Given the description of an element on the screen output the (x, y) to click on. 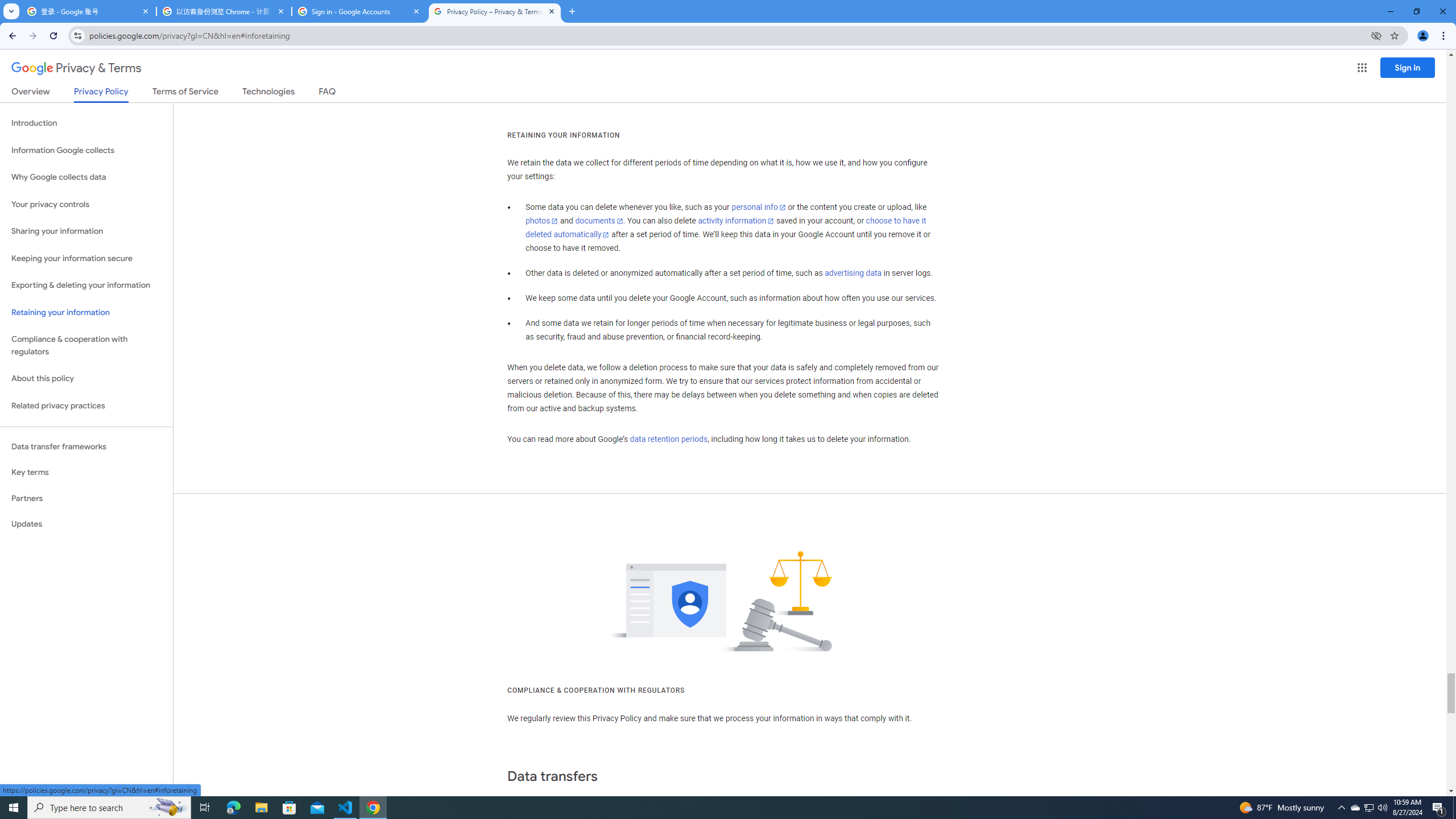
Updates (86, 524)
Terms of Service (184, 93)
Key terms (86, 472)
Exporting & deleting your information (86, 284)
advertising data (852, 273)
Retaining your information (86, 312)
photos (542, 221)
Partners (86, 497)
